Given the description of an element on the screen output the (x, y) to click on. 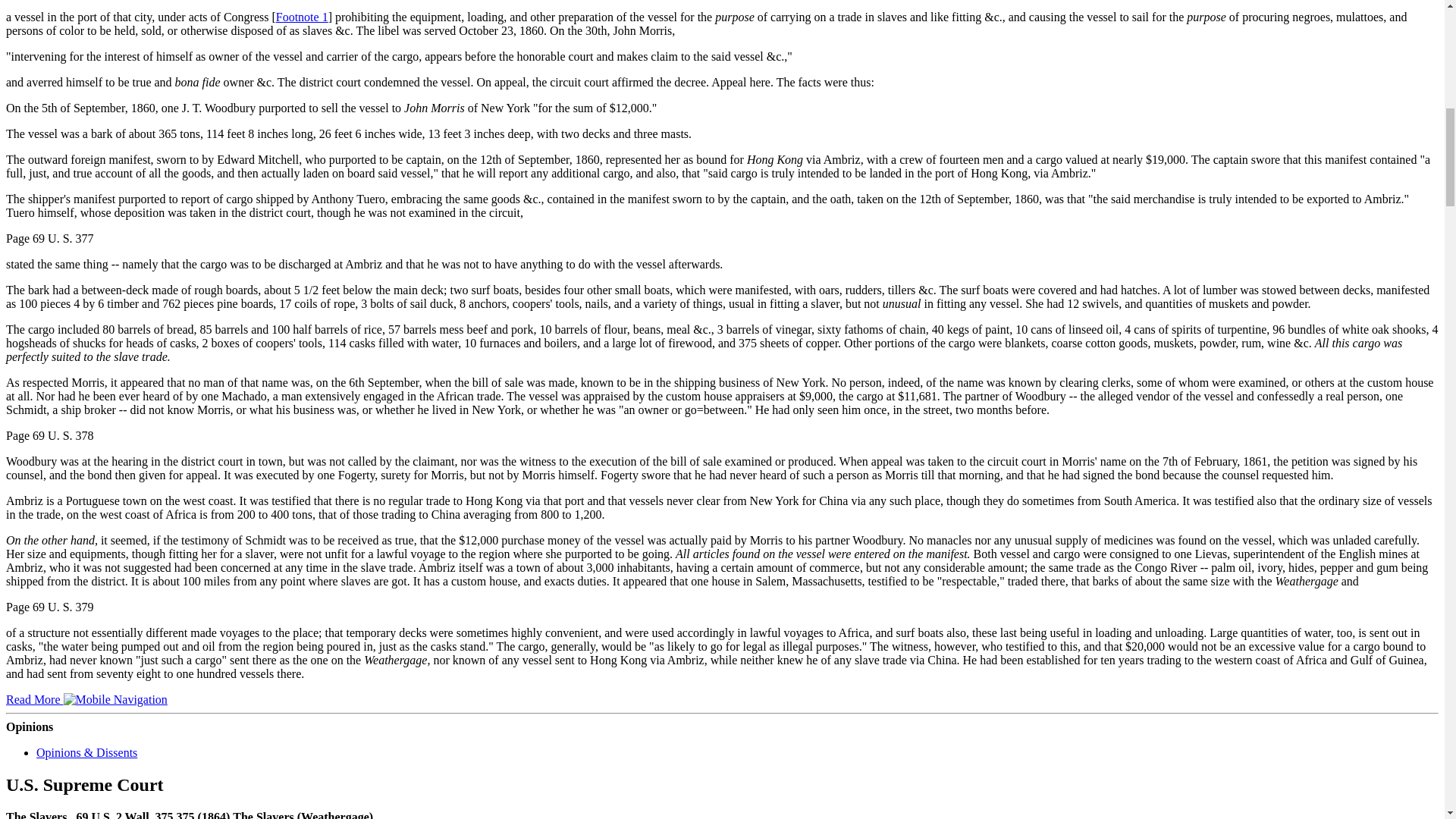
Page 69 U. S. 377 (49, 237)
Page 69 U. S. 378 (49, 435)
Read More (86, 698)
Mobile Navigation (115, 699)
Footnote 1 (302, 16)
Page 69 U. S. 379 (49, 606)
